Given the description of an element on the screen output the (x, y) to click on. 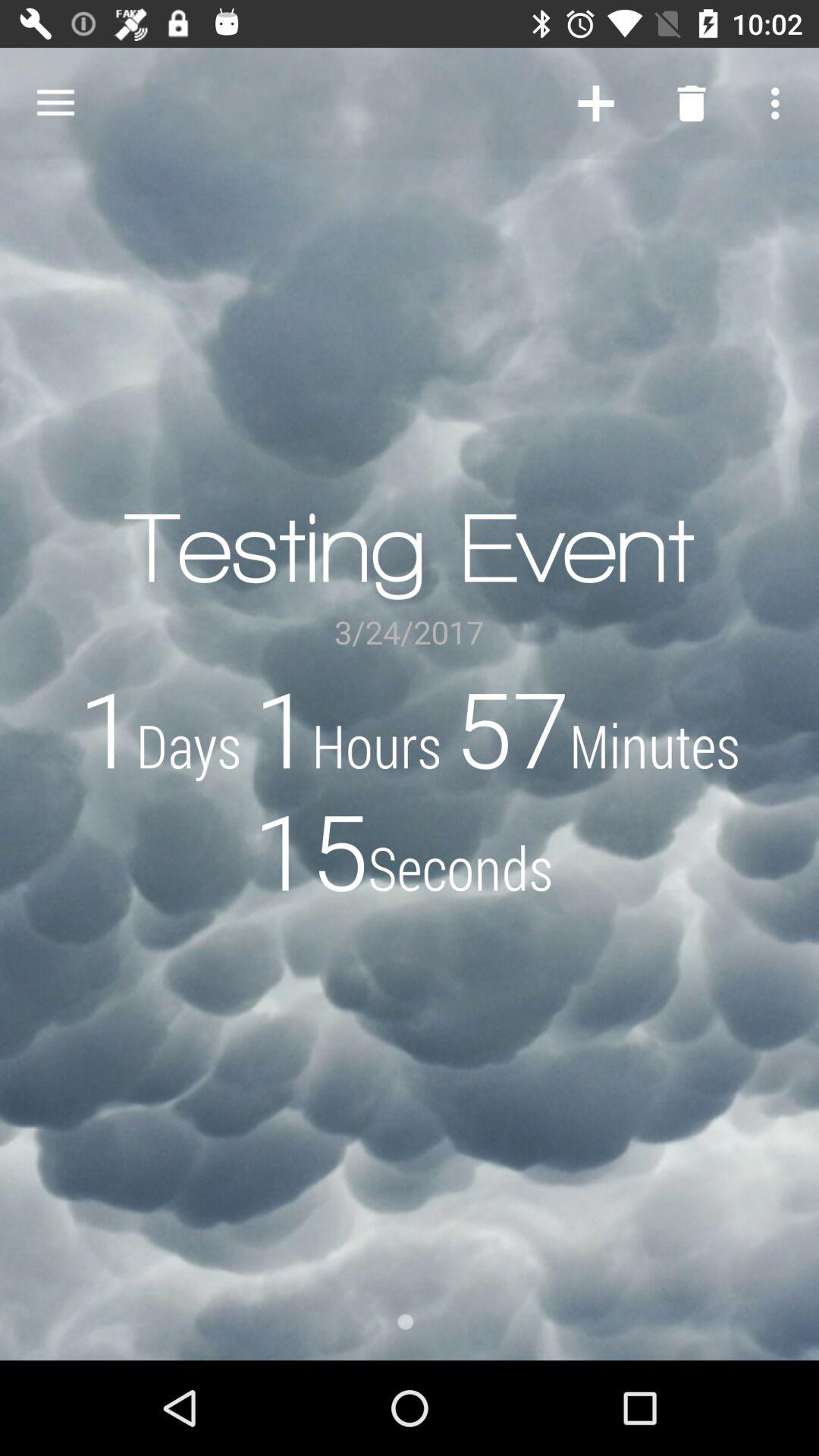
choose the item above the 1days 1hours 57minutes (55, 103)
